Given the description of an element on the screen output the (x, y) to click on. 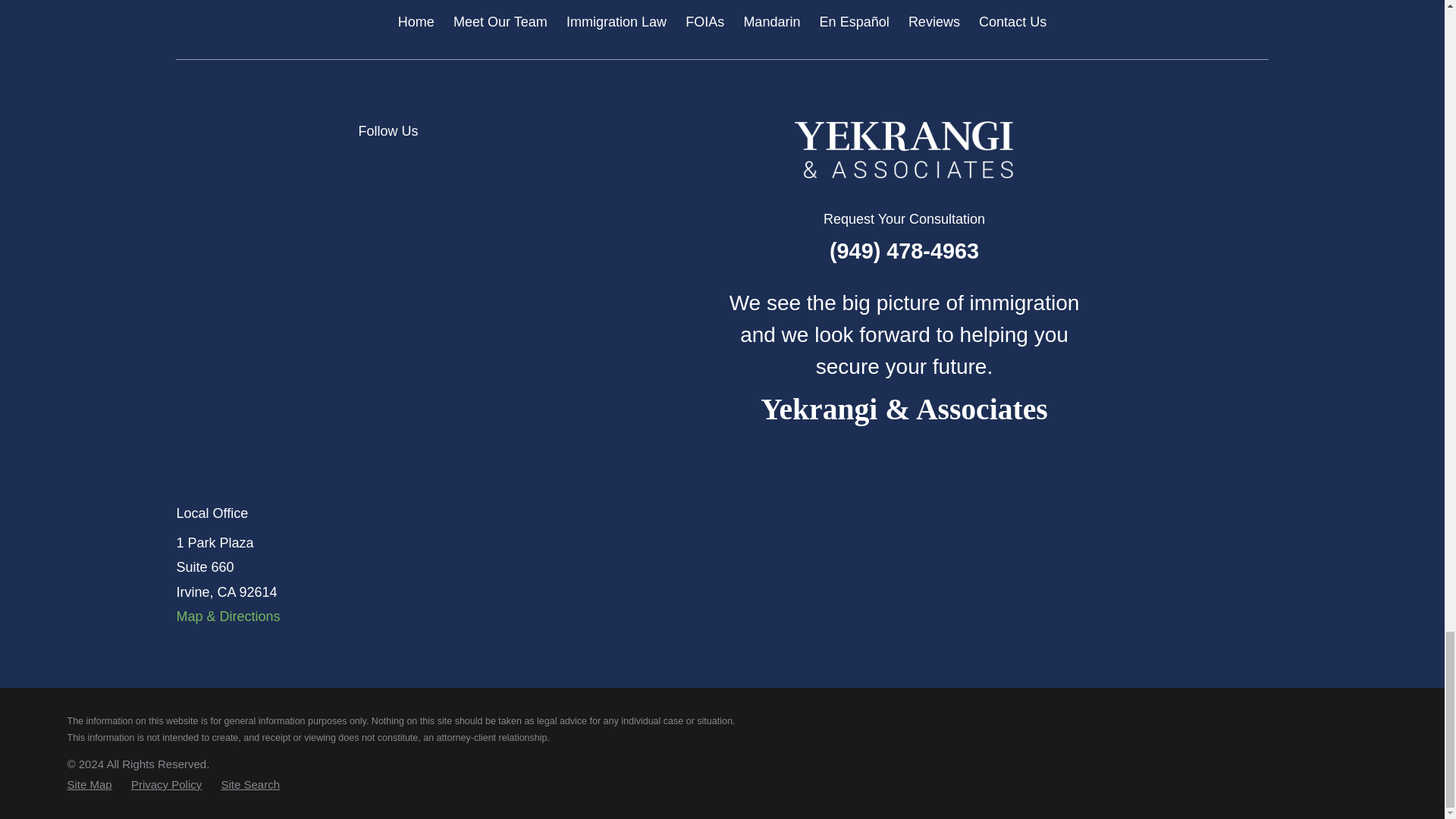
YouTube (613, 164)
Yelp (466, 164)
Facebook (514, 164)
Home (903, 150)
Google Business Profile (416, 164)
Avvo (367, 164)
Instagram (563, 164)
